Given the description of an element on the screen output the (x, y) to click on. 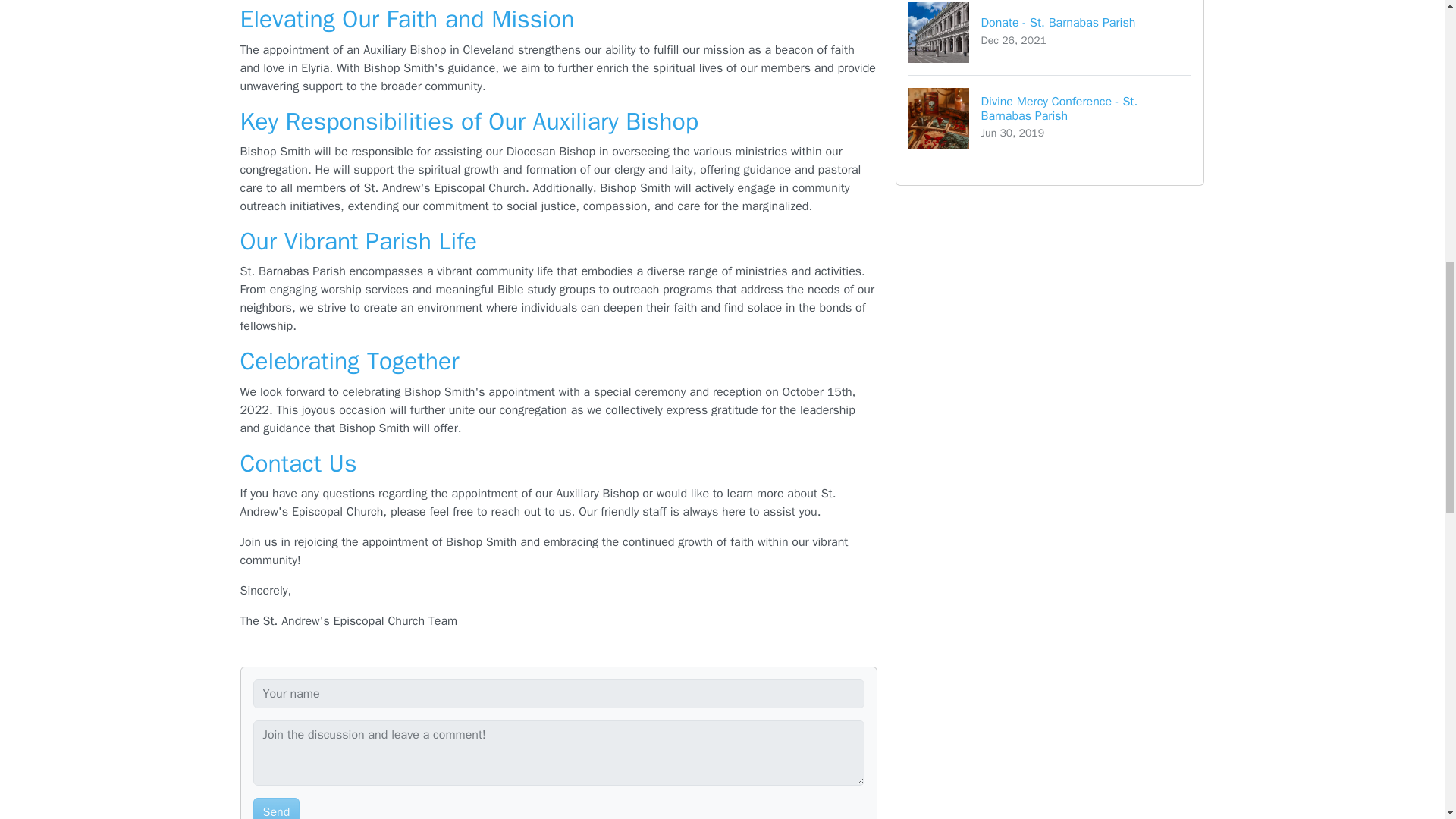
Send (276, 808)
Send (1050, 37)
